Given the description of an element on the screen output the (x, y) to click on. 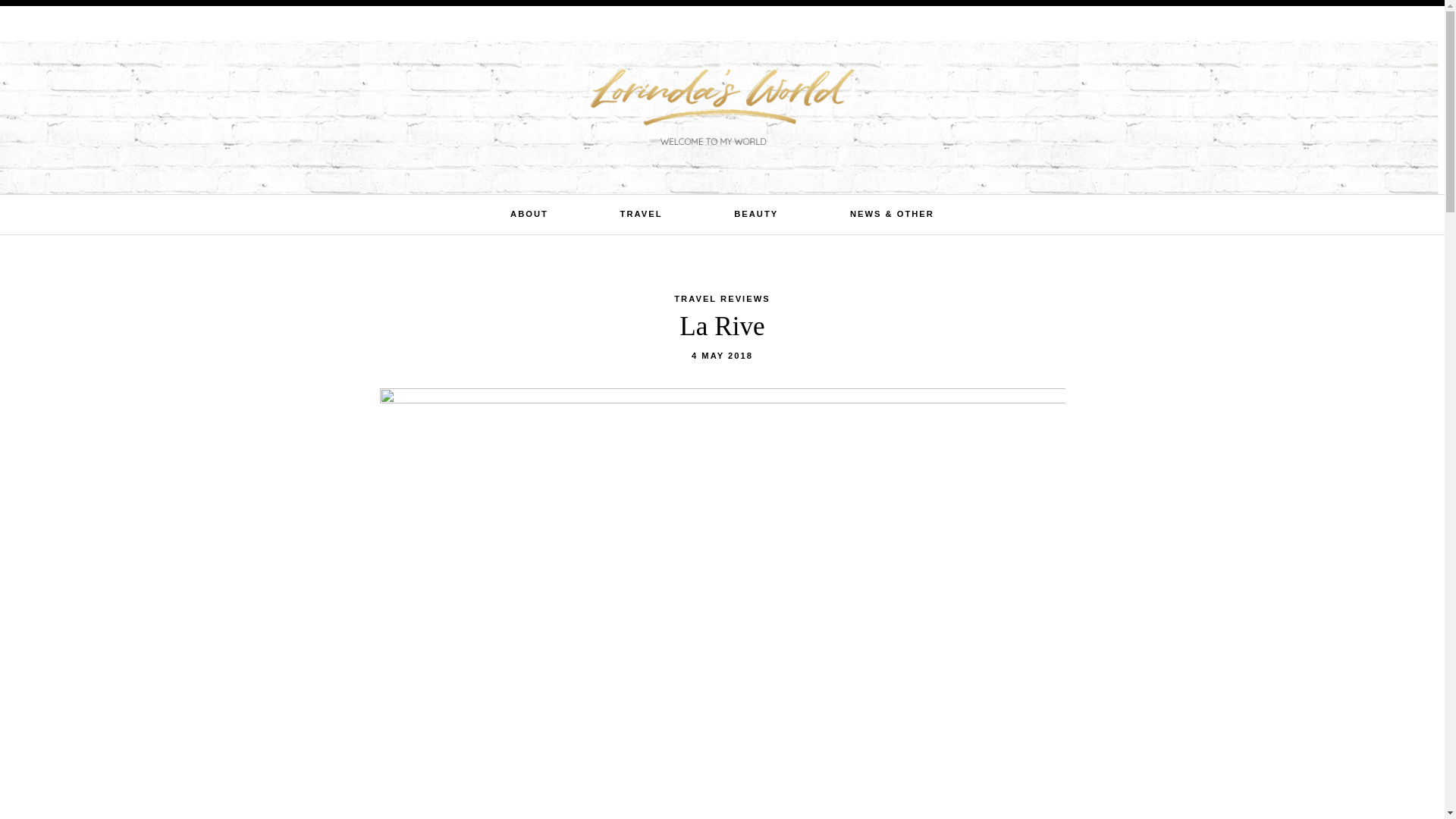
TRAVEL REVIEWS (722, 298)
Search for: (1357, 23)
TRAVEL (641, 214)
4 MAY 2018 (721, 355)
BEAUTY (755, 214)
ABOUT (529, 214)
